Given the description of an element on the screen output the (x, y) to click on. 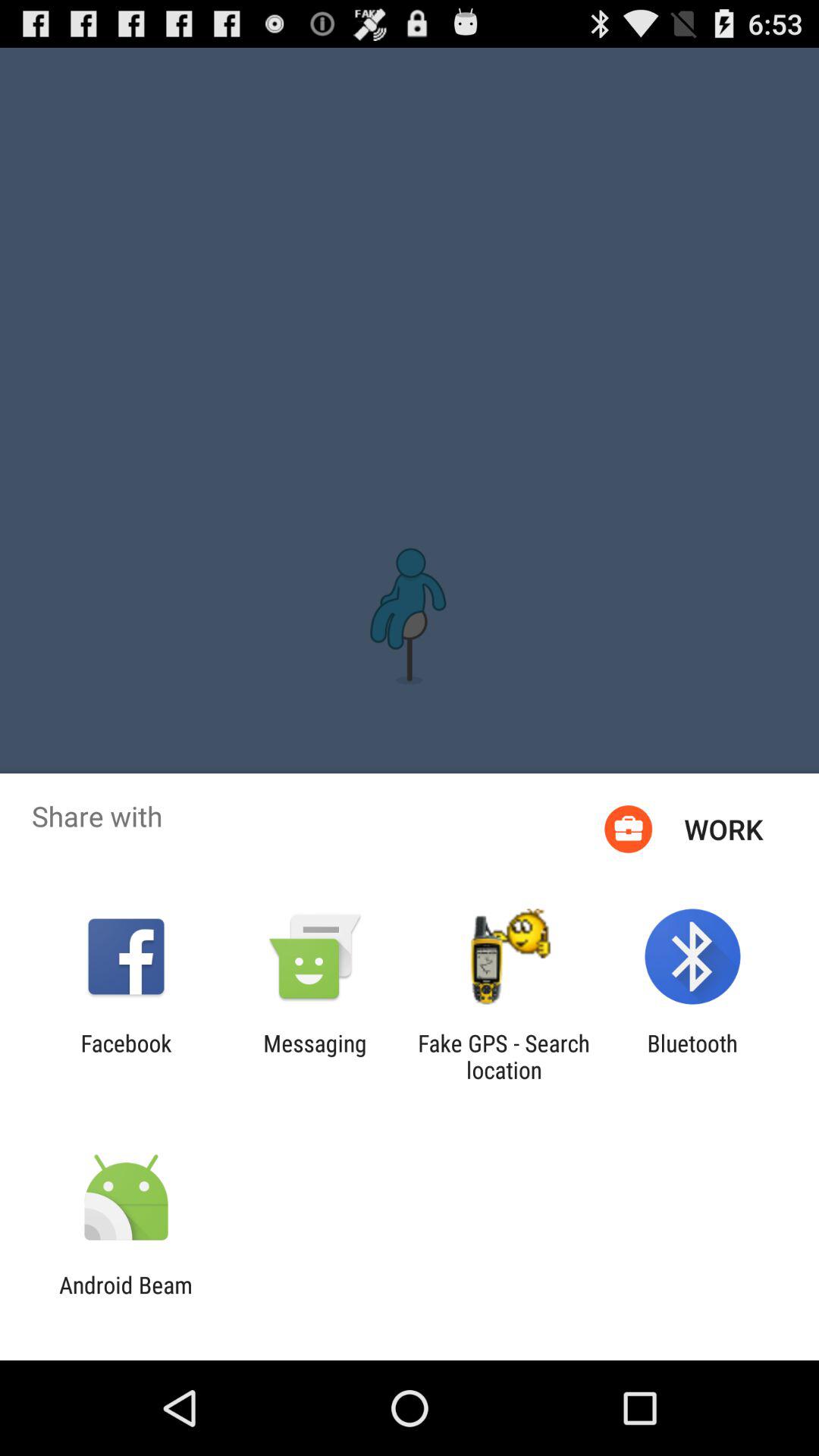
swipe to the android beam (125, 1298)
